Given the description of an element on the screen output the (x, y) to click on. 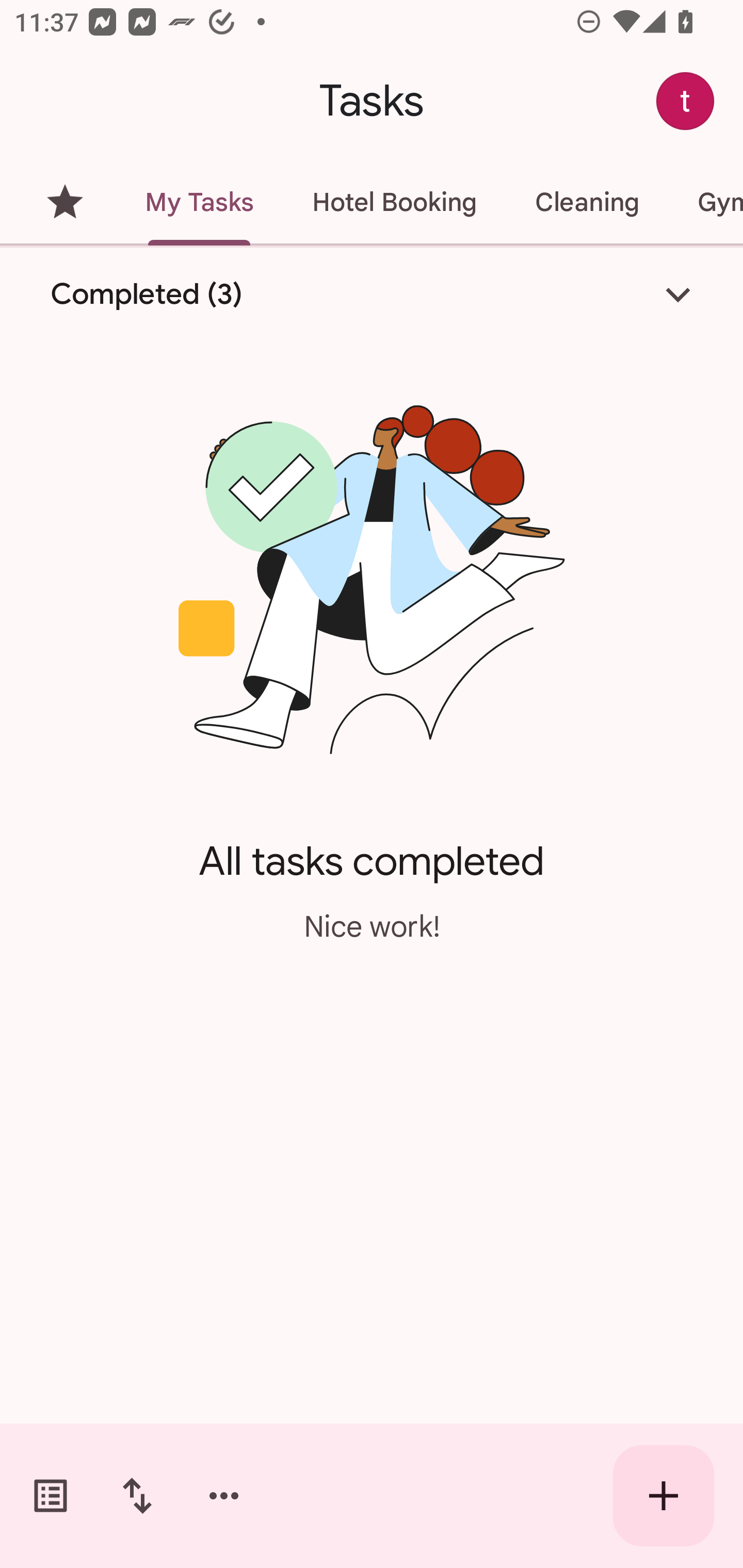
Starred (64, 202)
Hotel Booking (394, 202)
Cleaning (586, 202)
Completed (3) (371, 294)
Switch task lists (50, 1495)
Create new task (663, 1495)
Change sort order (136, 1495)
More options (223, 1495)
